Given the description of an element on the screen output the (x, y) to click on. 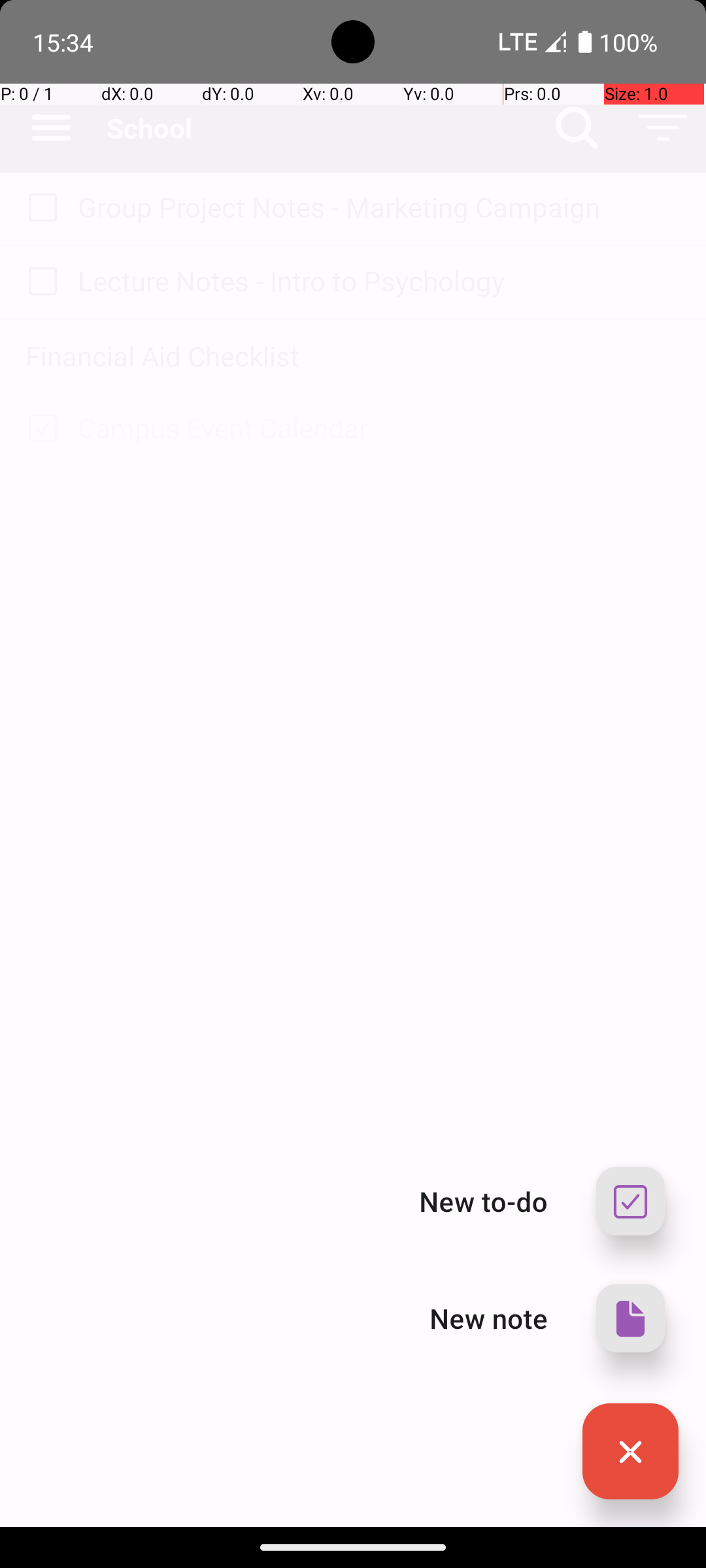
New to-do Element type: android.widget.Button (483, 1201)
New note Element type: android.widget.Button (488, 1317)
Add new, expanded Element type: android.widget.Button (630, 1451)
 Element type: android.widget.TextView (630, 1317)
 Element type: android.widget.TextView (630, 1450)
to-do: Group Project Notes - Marketing Campaign Element type: android.widget.CheckBox (38, 208)
Group Project Notes - Marketing Campaign Element type: android.widget.TextView (378, 206)
to-do: Lecture Notes - Intro to Psychology Element type: android.widget.CheckBox (38, 282)
Lecture Notes - Intro to Psychology Element type: android.widget.TextView (378, 280)
Financial Aid Checklist Element type: android.widget.TextView (352, 355)
to-do: Campus Event Calendar Element type: android.widget.CheckBox (38, 429)
Campus Event Calendar Element type: android.widget.TextView (378, 427)
